Given the description of an element on the screen output the (x, y) to click on. 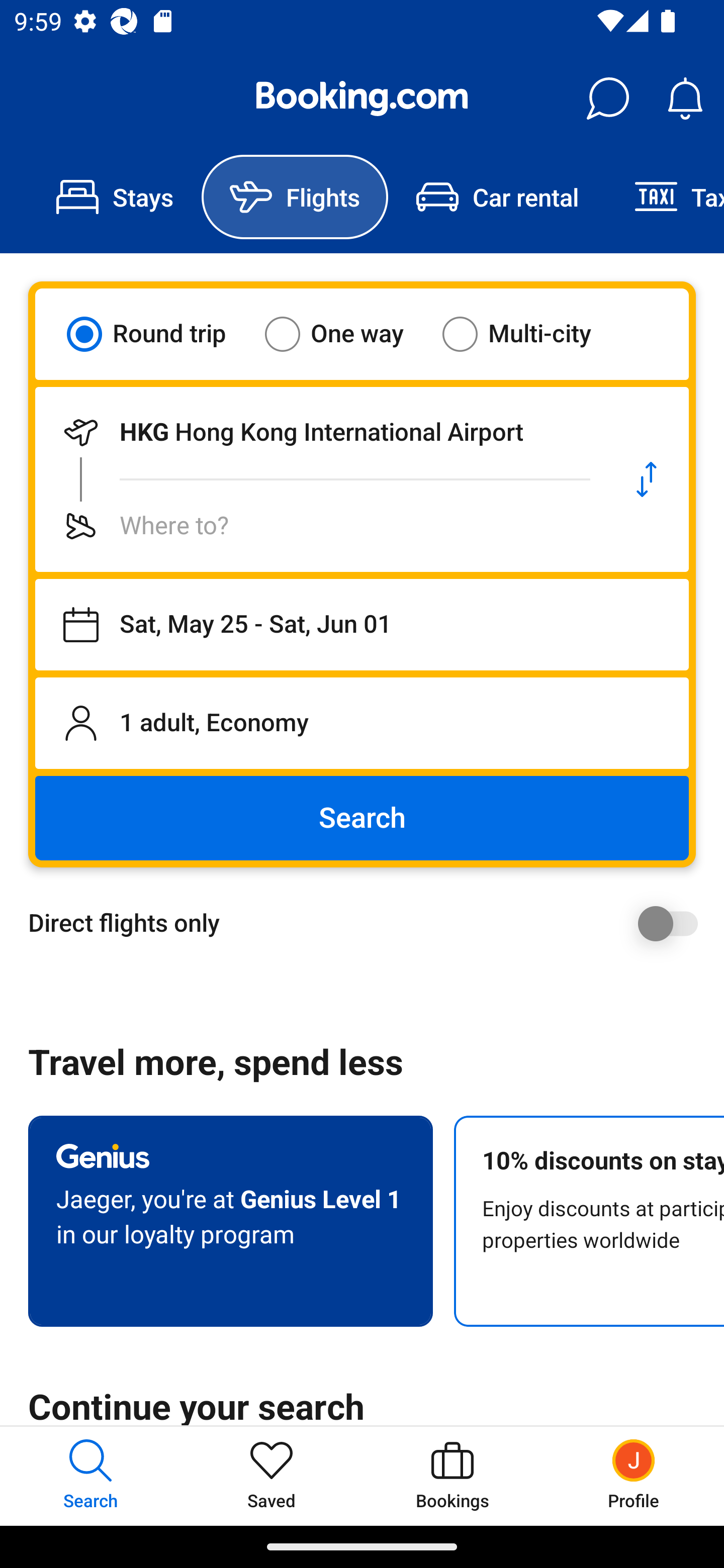
Messages (607, 98)
Notifications (685, 98)
Stays (114, 197)
Flights (294, 197)
Car rental (497, 197)
Taxi (665, 197)
One way (346, 333)
Multi-city (528, 333)
Departing from HKG Hong Kong International Airport (319, 432)
Swap departure location and destination (646, 479)
Flying to  (319, 525)
Departing on Sat, May 25, returning on Sat, Jun 01 (361, 624)
1 adult, Economy (361, 722)
Search (361, 818)
Direct flights only (369, 923)
Saved (271, 1475)
Bookings (452, 1475)
Profile (633, 1475)
